Given the description of an element on the screen output the (x, y) to click on. 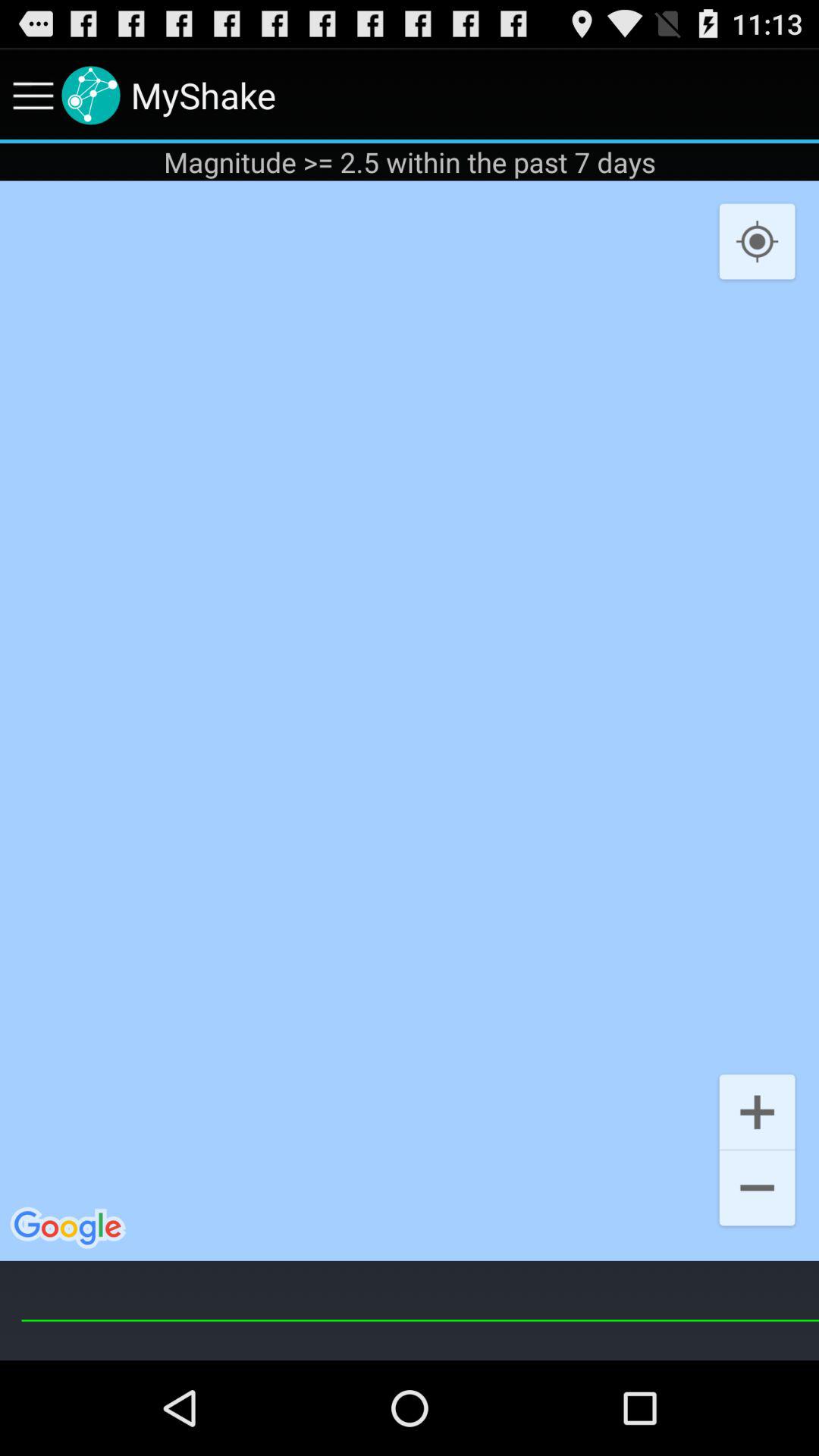
press the icon at the top right corner (757, 242)
